Given the description of an element on the screen output the (x, y) to click on. 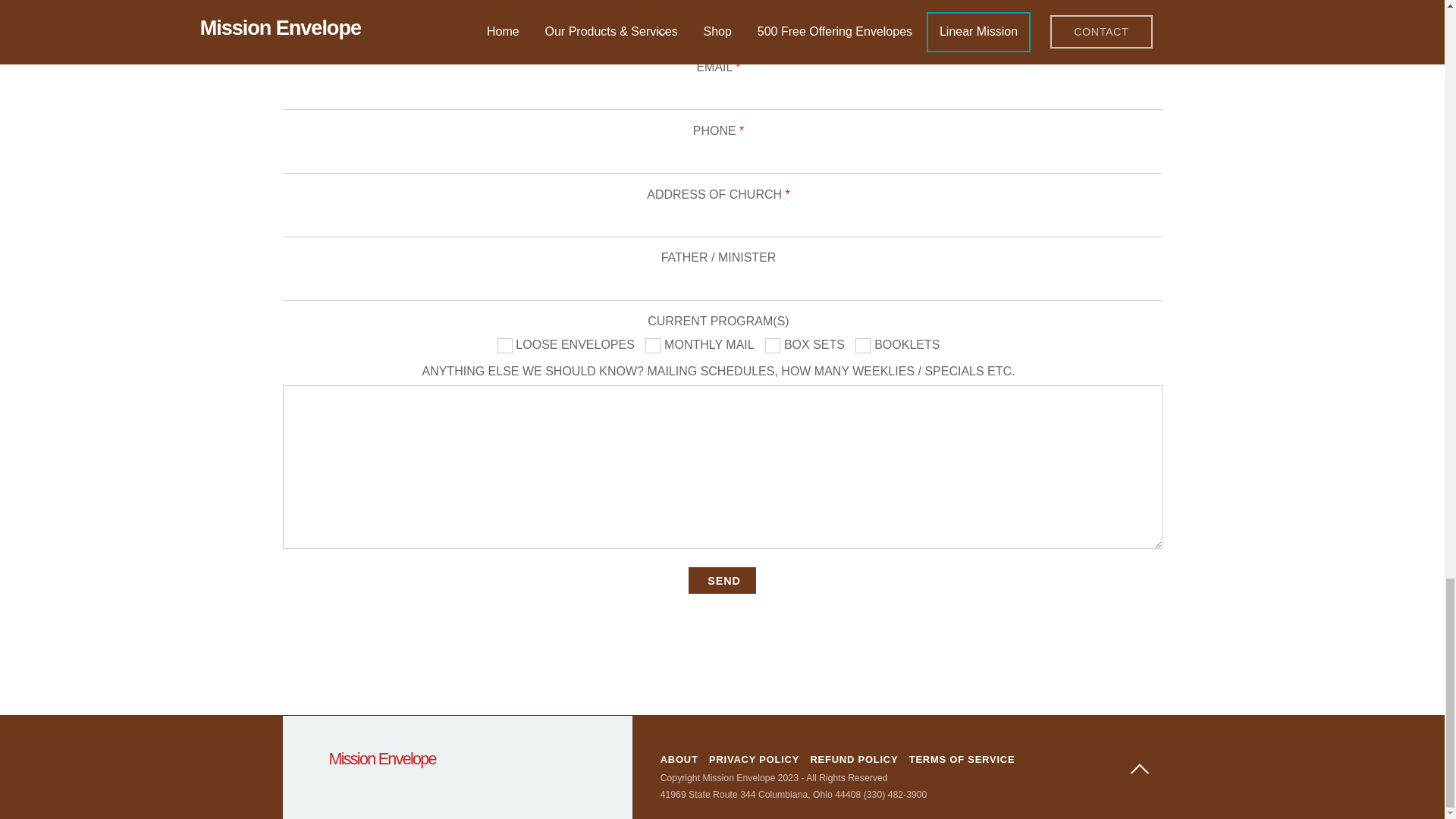
Back To Top (1138, 771)
Loose Envelopes (504, 345)
Booklets (863, 345)
SEND (721, 580)
PRIVACY POLICY (754, 758)
ABOUT (679, 758)
Mission Envelope (382, 758)
Monthly Mail (653, 345)
REFUND POLICY (853, 758)
TERMS OF SERVICE (961, 758)
Box Sets (772, 345)
Mission Envelope (382, 758)
